Given the description of an element on the screen output the (x, y) to click on. 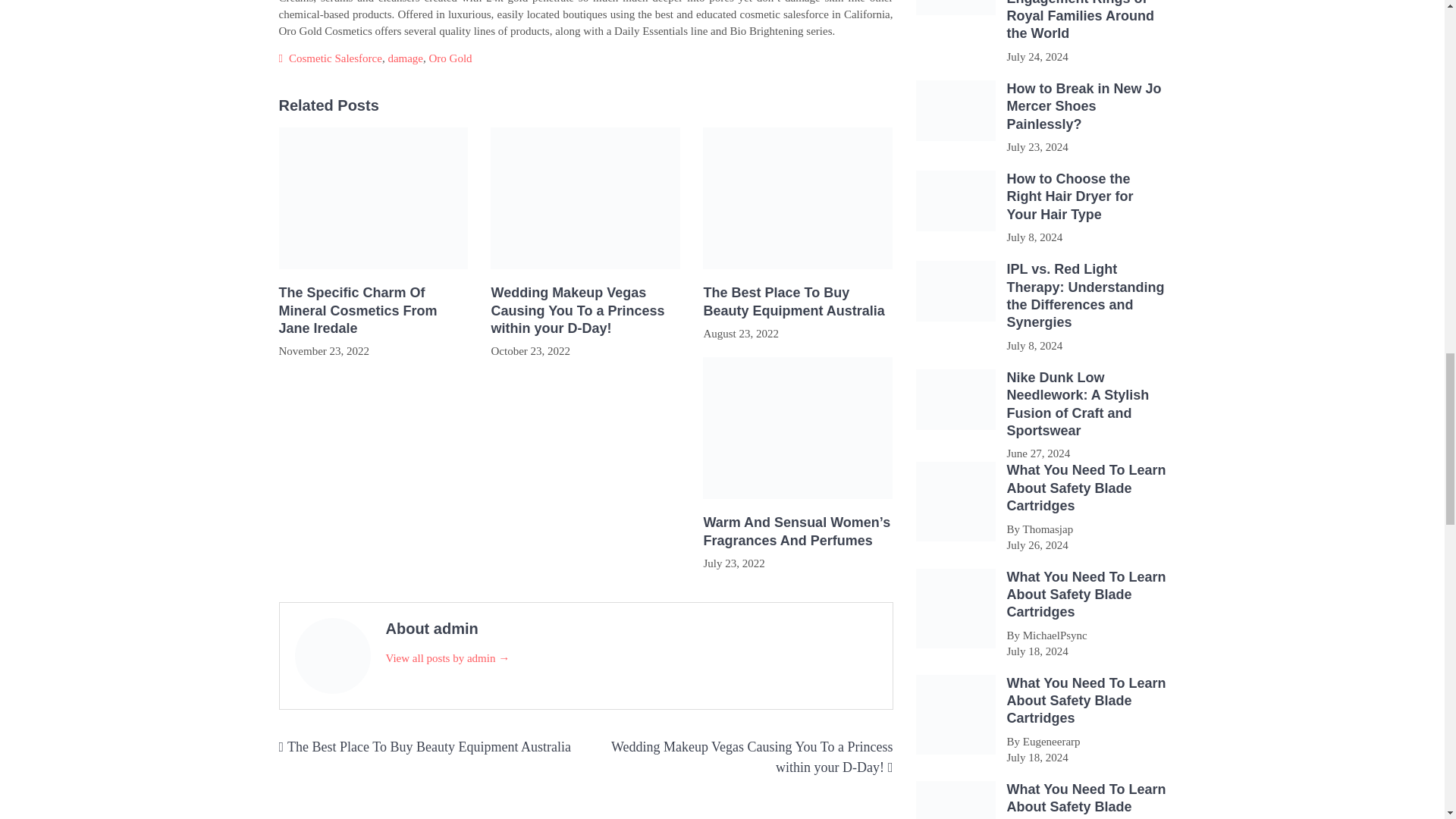
The Best Place To Buy Beauty Equipment Australia (428, 746)
The Specific Charm Of Mineral Cosmetics From Jane Iredale (373, 310)
damage (405, 57)
Oro Gold (450, 57)
Cosmetic Salesforce (334, 57)
The Best Place To Buy Beauty Equipment Australia (797, 302)
